Given the description of an element on the screen output the (x, y) to click on. 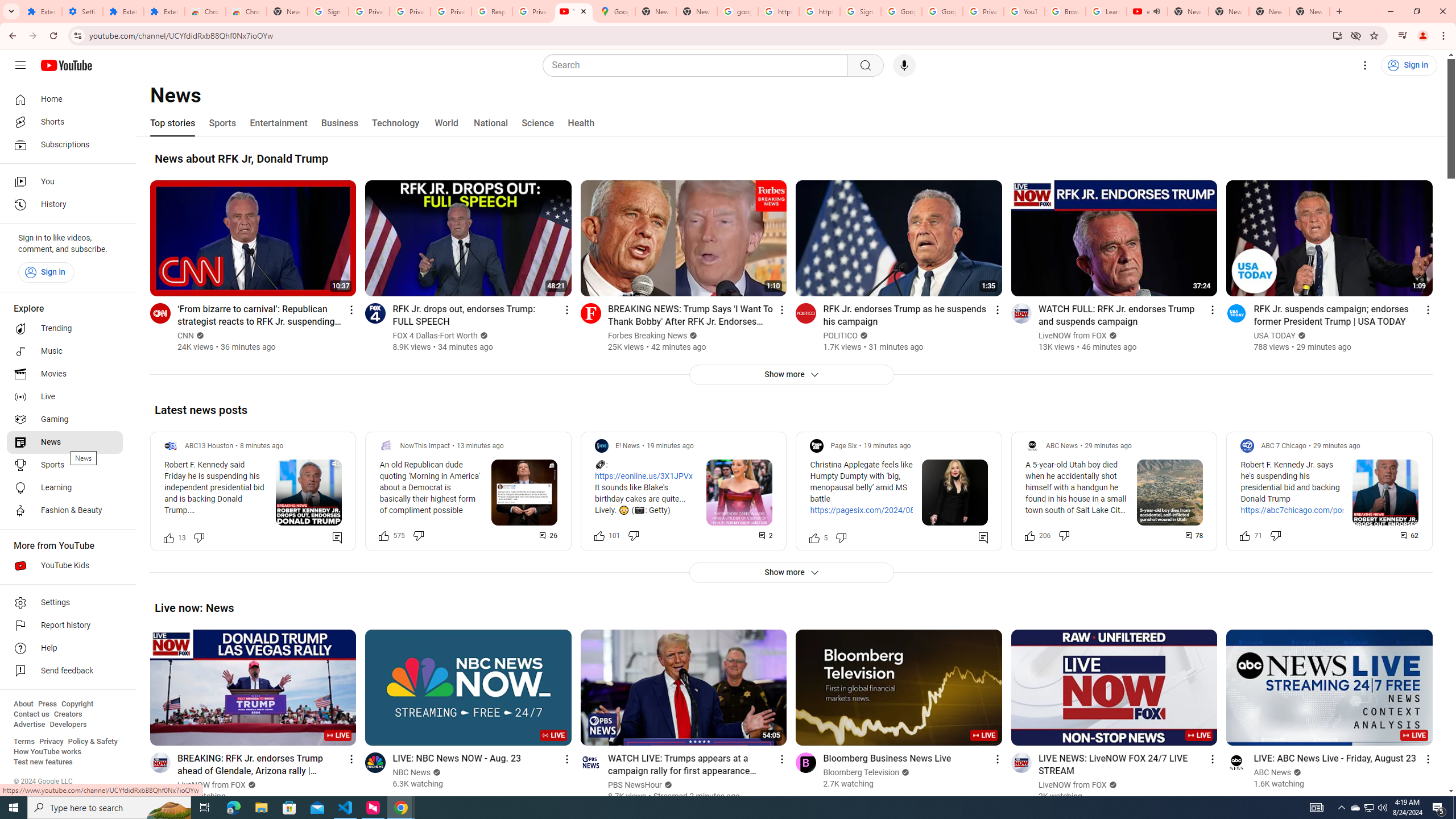
Top stories (172, 122)
Subscriptions (64, 144)
CNN (186, 335)
Health (580, 122)
Test new features (42, 761)
YouTube Kids (64, 565)
Business (339, 122)
Entertainment (277, 122)
Send feedback (64, 671)
